Given the description of an element on the screen output the (x, y) to click on. 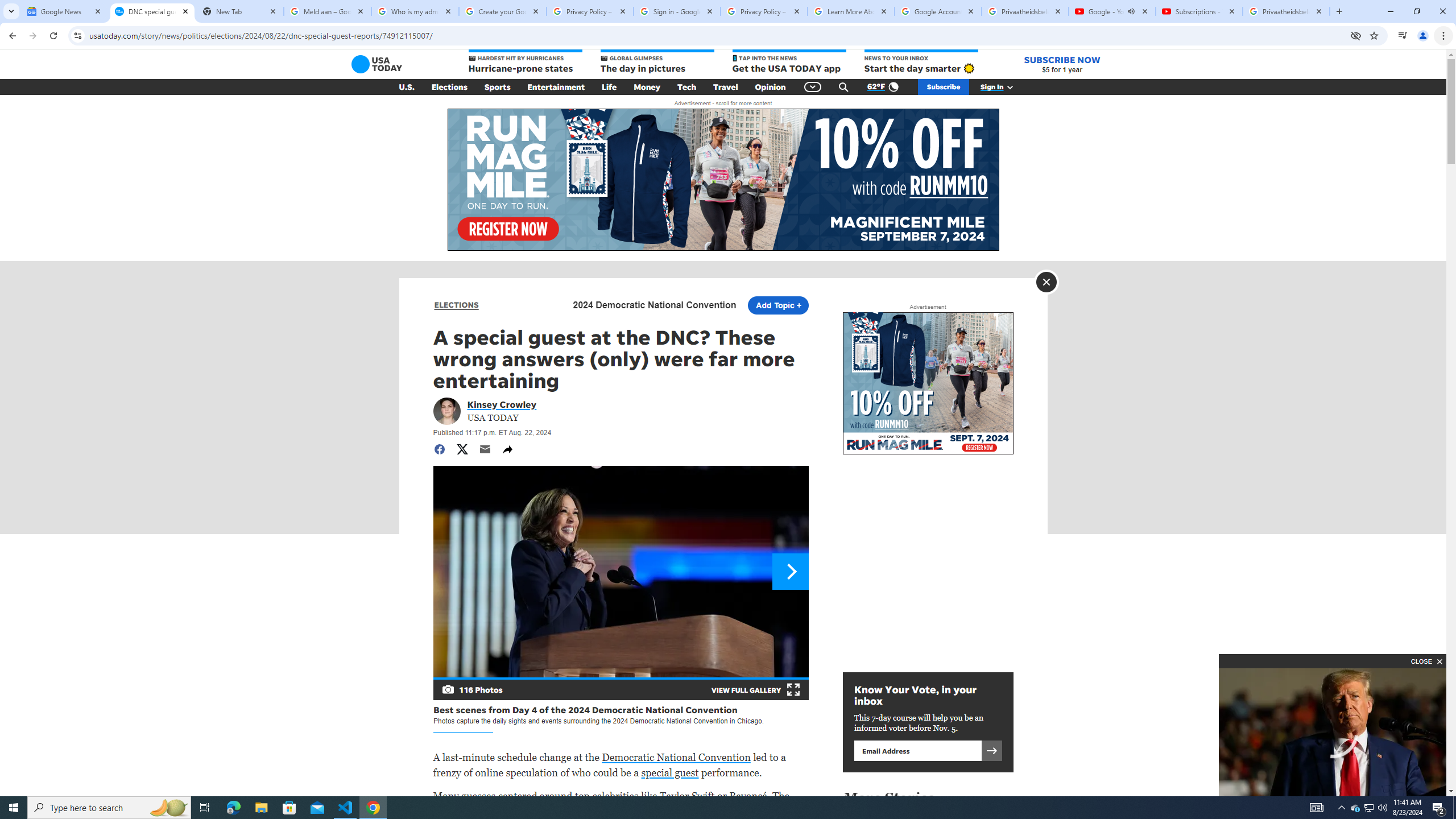
Money (646, 87)
Who is my administrator? - Google Account Help (415, 11)
You (1422, 35)
Opinion (770, 87)
View site information (77, 35)
Sign in - Google Accounts (676, 11)
Share to Facebook (438, 449)
Global Navigation (812, 87)
Email address (917, 750)
System (6, 6)
Portrait of Kinsey Crowley Kinsey Crowley (502, 404)
